Given the description of an element on the screen output the (x, y) to click on. 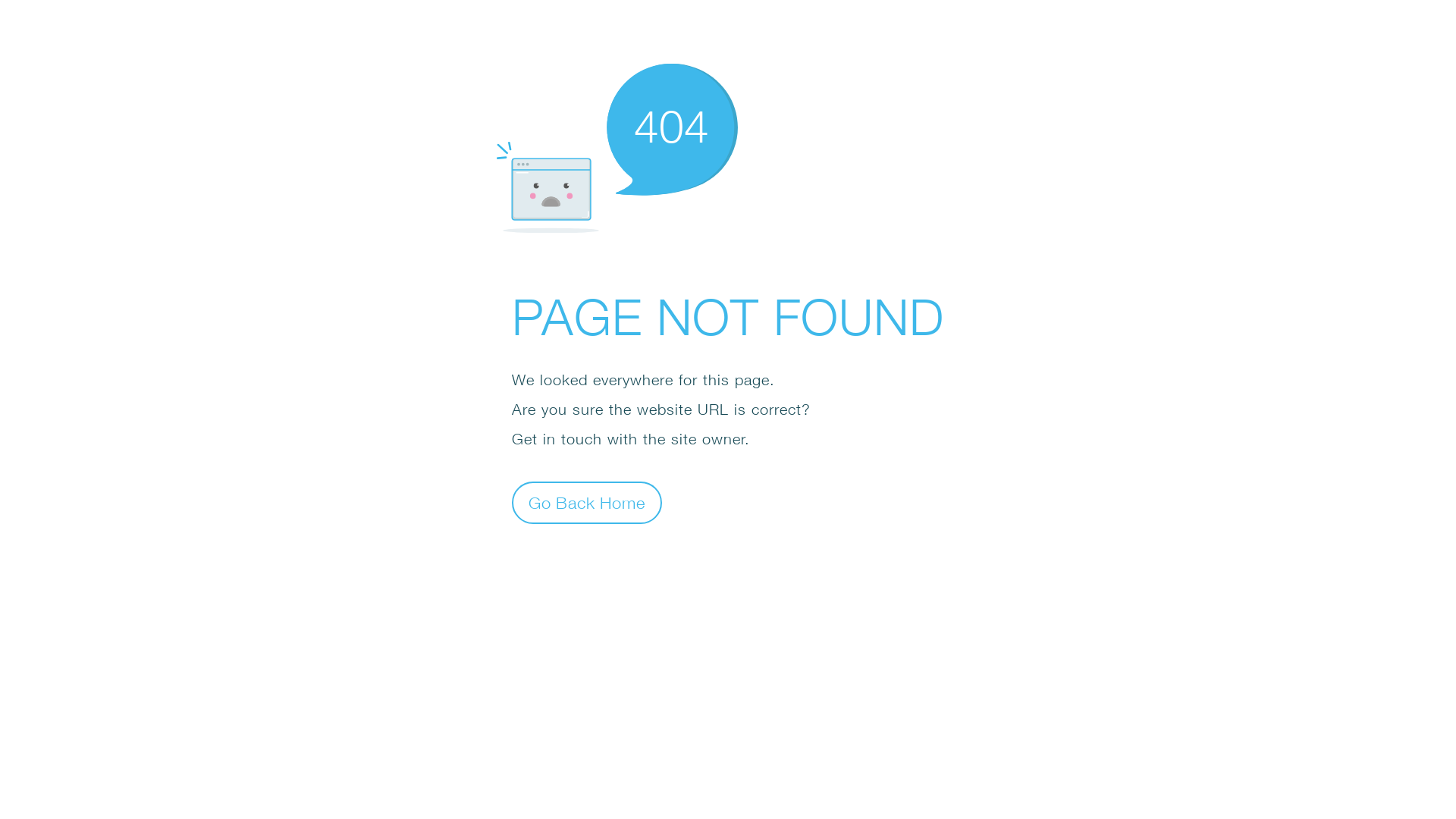
Go Back Home Element type: text (586, 502)
